Given the description of an element on the screen output the (x, y) to click on. 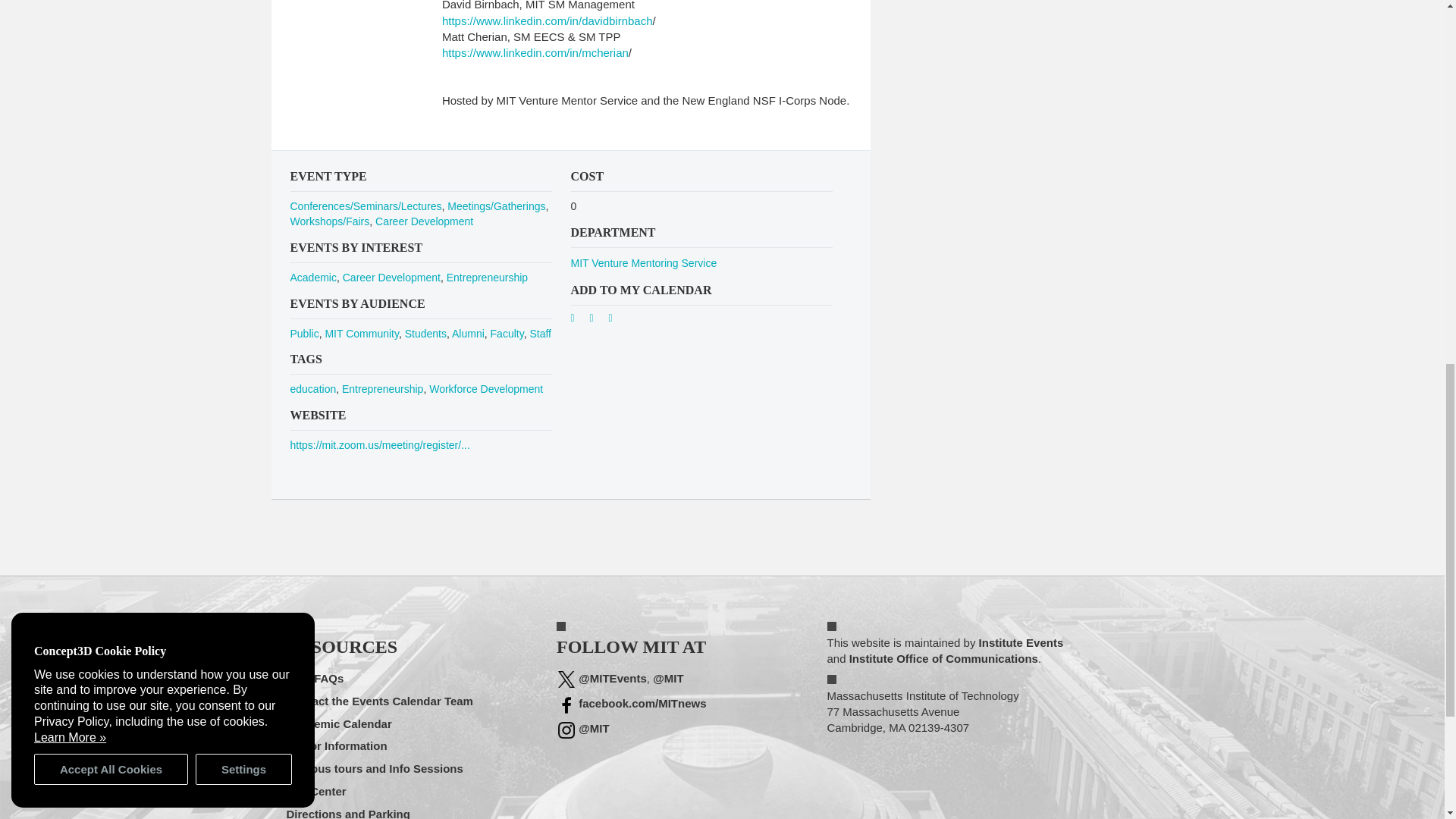
Alumni (467, 333)
Entrepreneurship (486, 277)
Workforce Development (486, 388)
Academic (312, 277)
Career Development (424, 221)
Staff (540, 333)
education (312, 388)
Save to Google Calendar (577, 320)
Save to iCal (597, 320)
Career Development (391, 277)
Students (425, 333)
Entrepreneurship (382, 388)
Save to Outlook (615, 320)
MIT Community (361, 333)
MIT Venture Mentoring Service (643, 263)
